Given the description of an element on the screen output the (x, y) to click on. 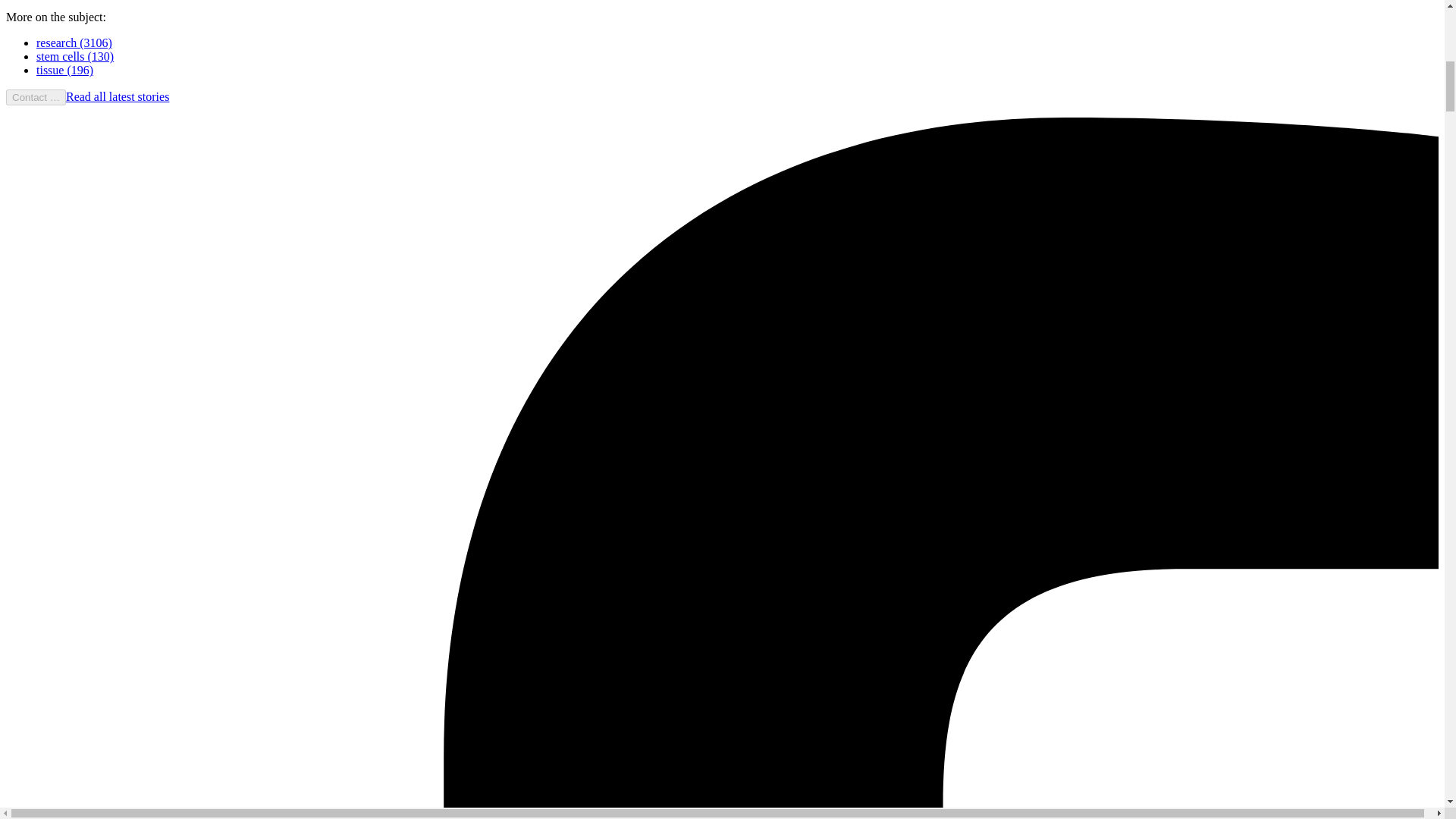
Read all latest stories (116, 96)
